Given the description of an element on the screen output the (x, y) to click on. 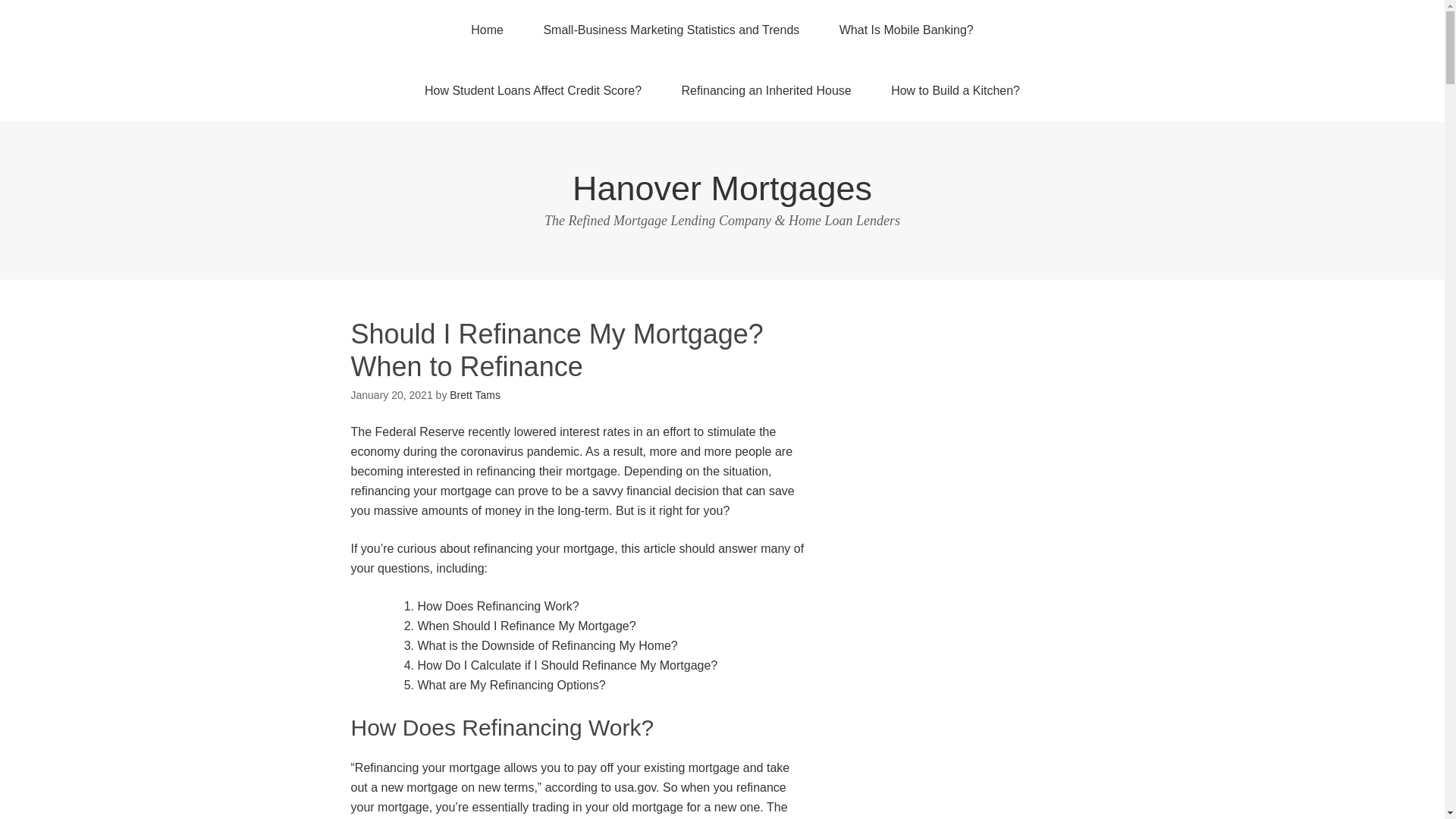
What Is Mobile Banking? (906, 30)
Hanover Mortgages (722, 188)
How Student Loans Affect Credit Score? (532, 90)
Small-Business Marketing Statistics and Trends (670, 30)
Hanover Mortgages (722, 188)
Home (486, 30)
Brett Tams (474, 395)
Wednesday, January 20, 2021, 12:17 pm (391, 395)
How to Build a Kitchen? (955, 90)
Posts by Brett Tams (474, 395)
Refinancing an Inherited House (766, 90)
